Given the description of an element on the screen output the (x, y) to click on. 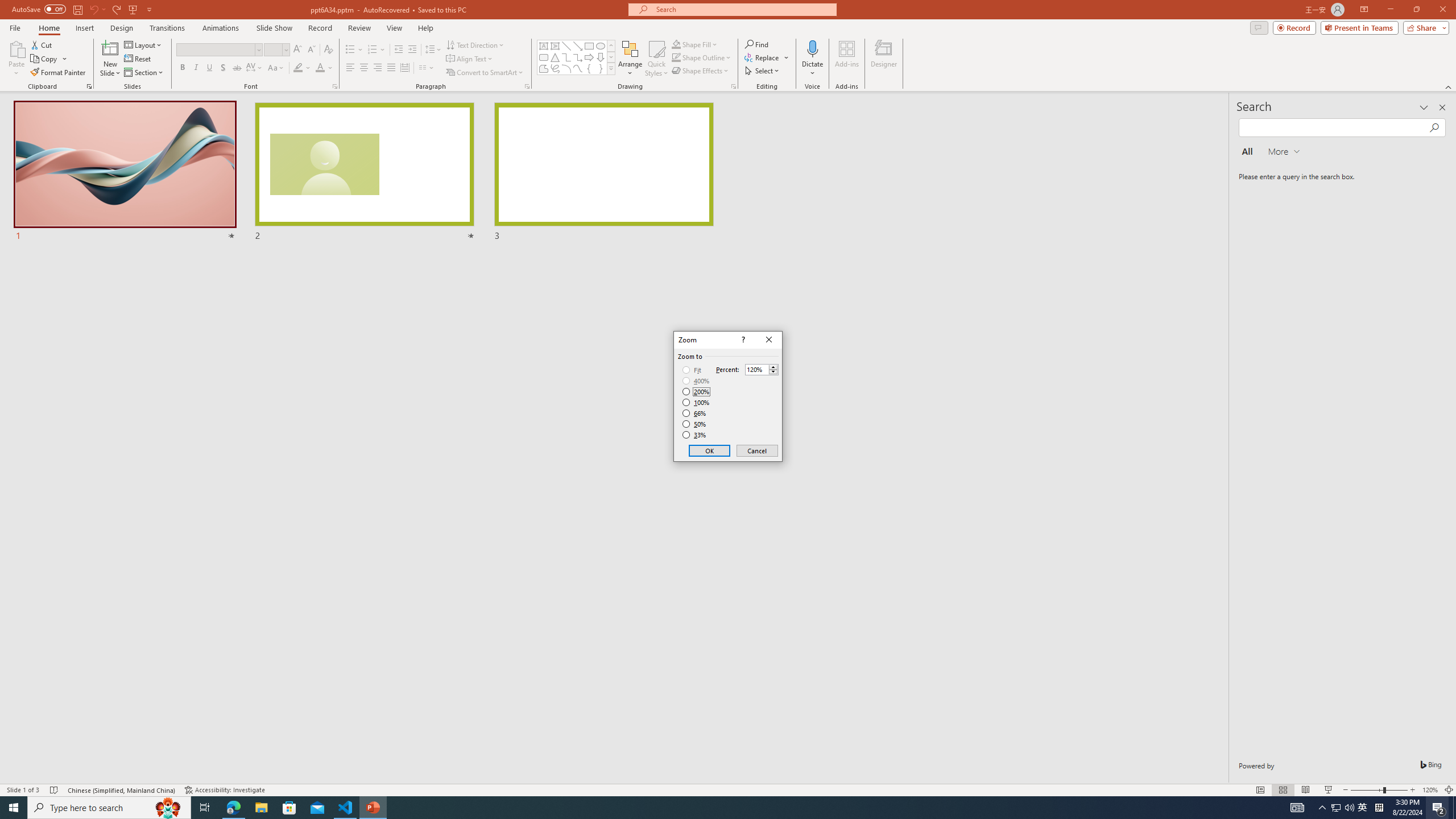
OK (709, 450)
50% (694, 424)
